Given the description of an element on the screen output the (x, y) to click on. 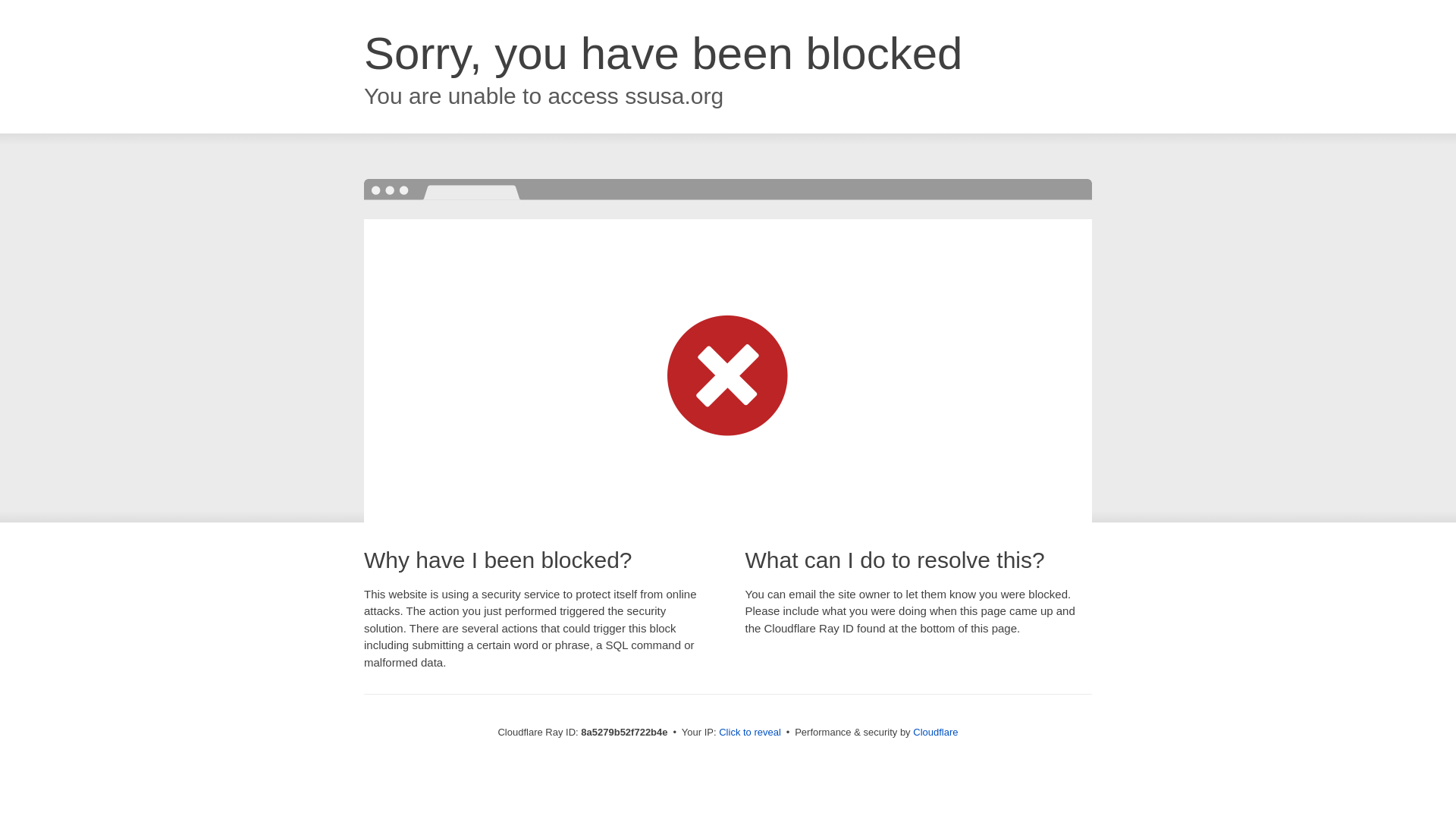
Cloudflare (935, 731)
Click to reveal (749, 732)
